Given the description of an element on the screen output the (x, y) to click on. 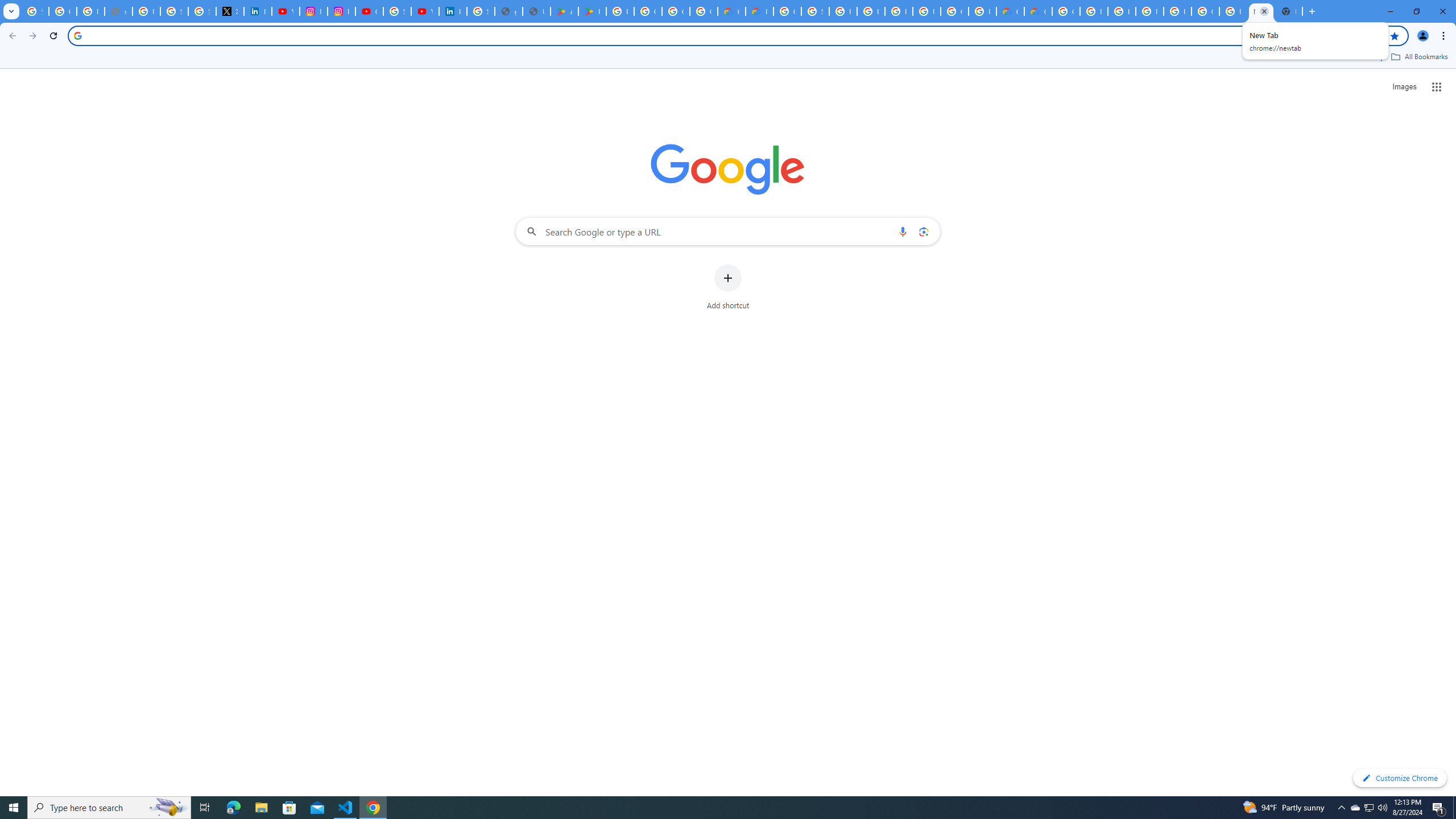
Customize Chrome (1399, 778)
Search icon (77, 35)
Browse Chrome as a guest - Computer - Google Chrome Help (1121, 11)
User Details (536, 11)
Bookmarks (728, 58)
Customer Care | Google Cloud (1010, 11)
YouTube Content Monetization Policies - How YouTube Works (285, 11)
Google Cloud Platform (1205, 11)
Android Apps on Google Play (564, 11)
